Given the description of an element on the screen output the (x, y) to click on. 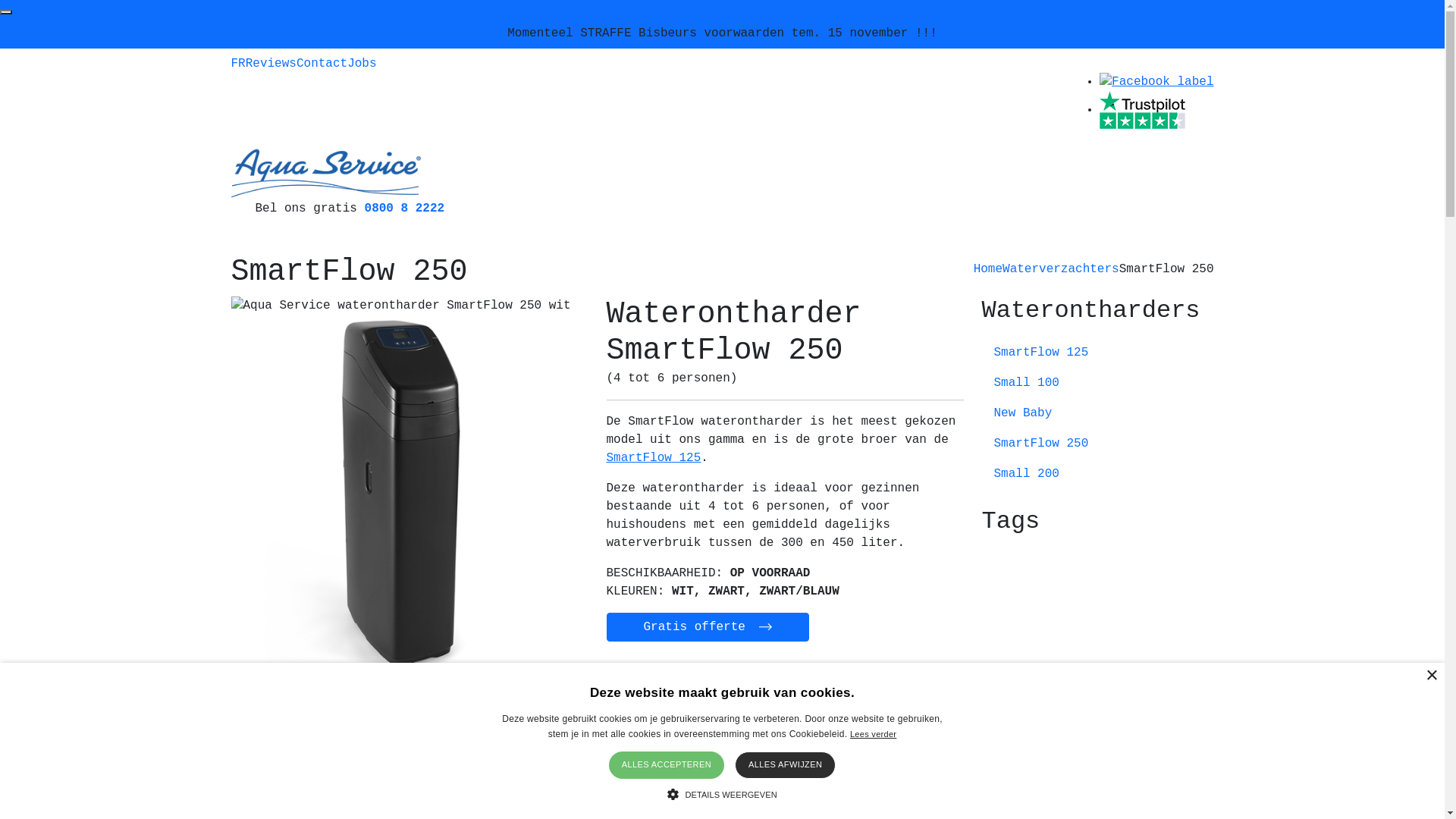
SmartFlow 125 Element type: text (1097, 352)
Contact Element type: text (321, 63)
SmartFlow 125 Element type: text (653, 457)
Jobs Element type: text (361, 63)
Facebook score Element type: hover (1156, 81)
Waterverzachters Element type: text (1060, 269)
Reviews Element type: text (270, 63)
Gratis offerte Element type: text (707, 626)
Small 200 Element type: text (1097, 473)
Small 100 Element type: text (1097, 382)
Trustpilot score Element type: hover (1142, 109)
New Baby Element type: text (1097, 413)
0800 8 2222 Element type: text (404, 208)
Lees verder Element type: text (873, 733)
Home Element type: text (987, 269)
FR Element type: text (237, 63)
SmartFlow 250 Element type: text (1097, 443)
Aqua Service waterontharders Element type: hover (325, 172)
